Given the description of an element on the screen output the (x, y) to click on. 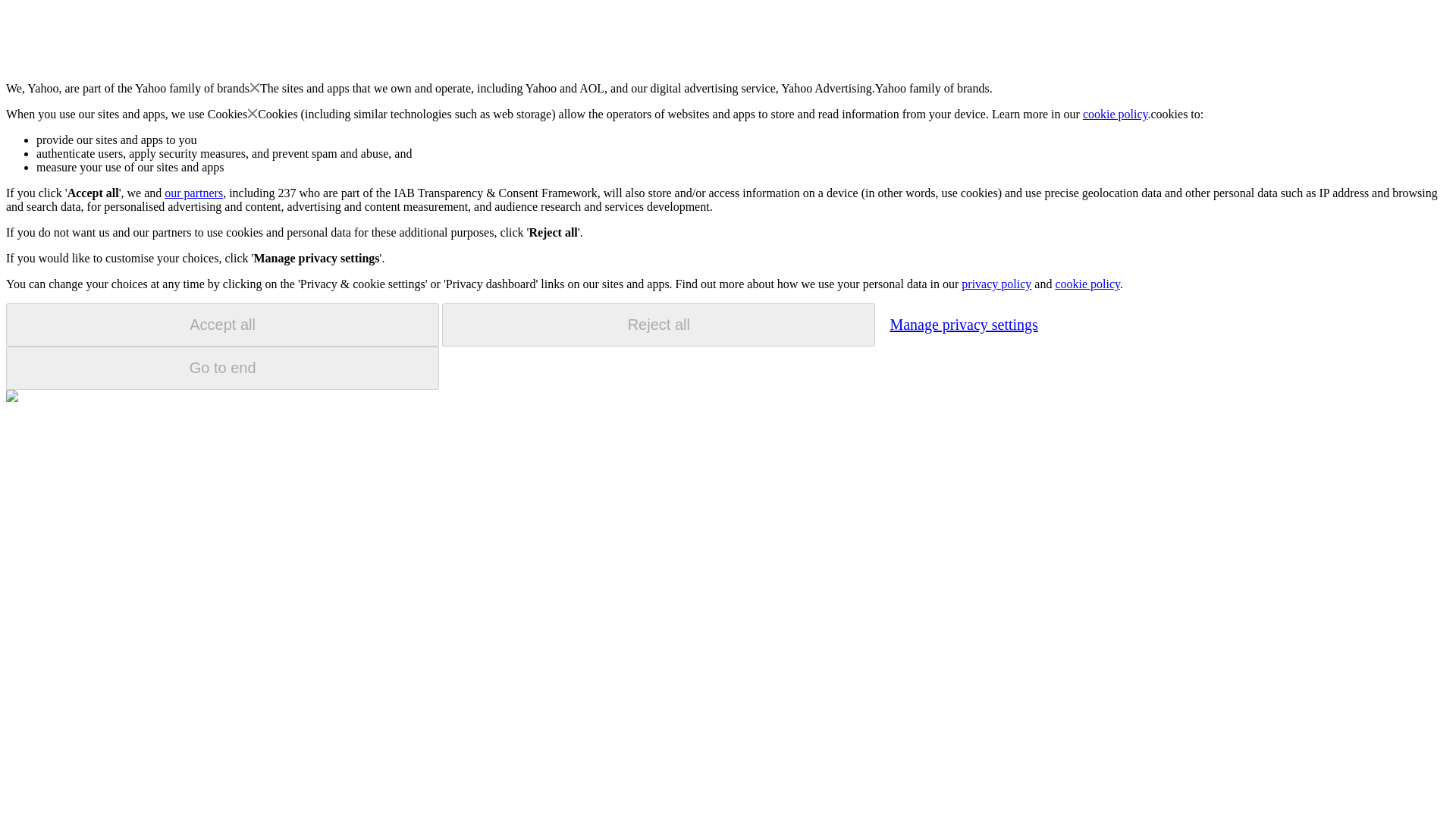
cookie policy (1086, 283)
our partners (193, 192)
Accept all (222, 324)
Go to end (222, 367)
cookie policy (1115, 113)
Manage privacy settings (963, 323)
privacy policy (995, 283)
Reject all (658, 324)
